Given the description of an element on the screen output the (x, y) to click on. 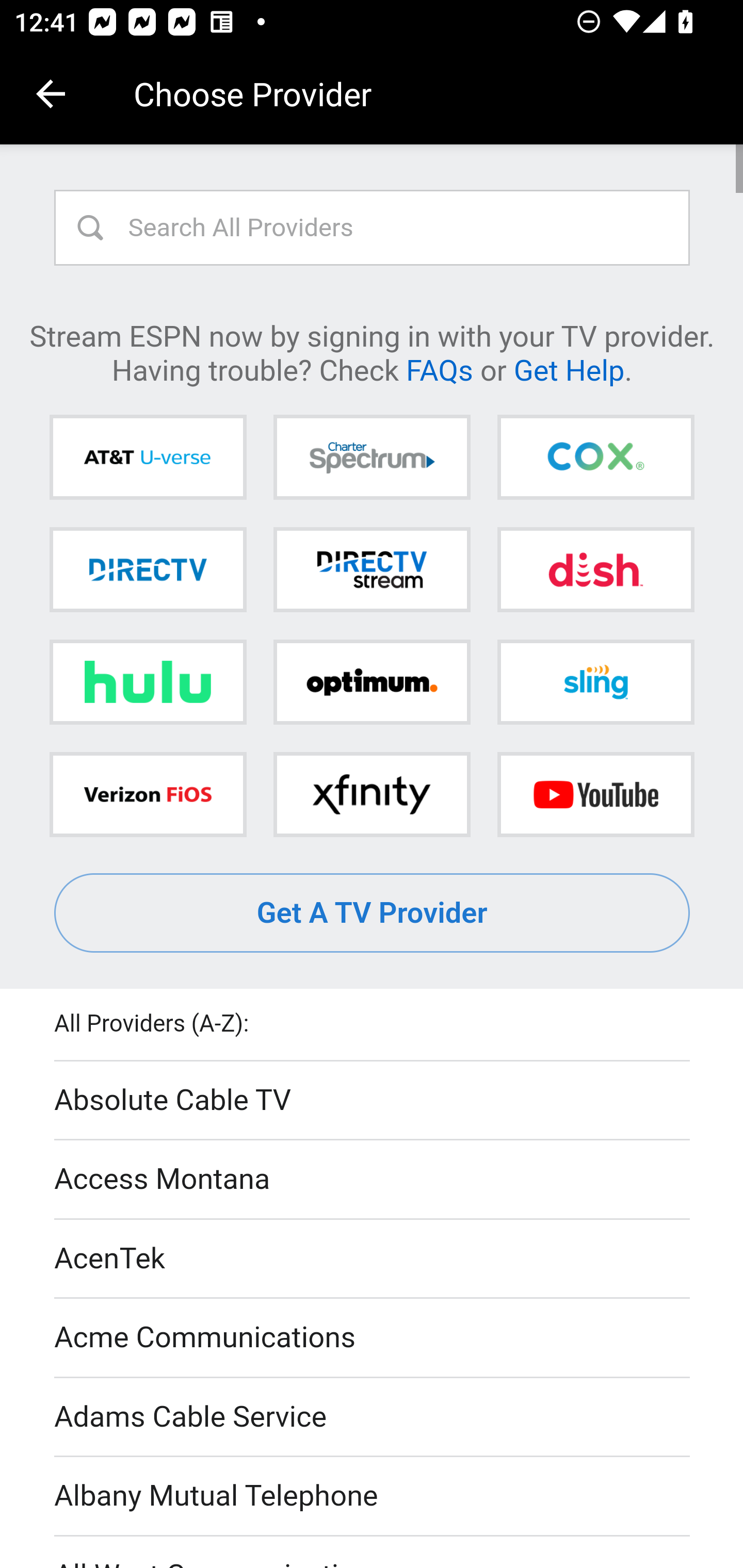
Navigate up (50, 93)
FAQs (438, 369)
Get Help (569, 369)
AT&T U-verse (147, 457)
Charter Spectrum (371, 457)
Cox (595, 457)
DIRECTV (147, 568)
DIRECTV STREAM (371, 568)
DISH (595, 568)
Hulu (147, 681)
Optimum (371, 681)
Sling TV (595, 681)
Verizon FiOS (147, 793)
Xfinity (371, 793)
YouTube TV (595, 793)
Get A TV Provider (372, 912)
Absolute Cable TV (372, 1100)
Access Montana (372, 1178)
AcenTek (372, 1258)
Acme Communications (372, 1338)
Adams Cable Service (372, 1417)
Albany Mutual Telephone (372, 1497)
